Given the description of an element on the screen output the (x, y) to click on. 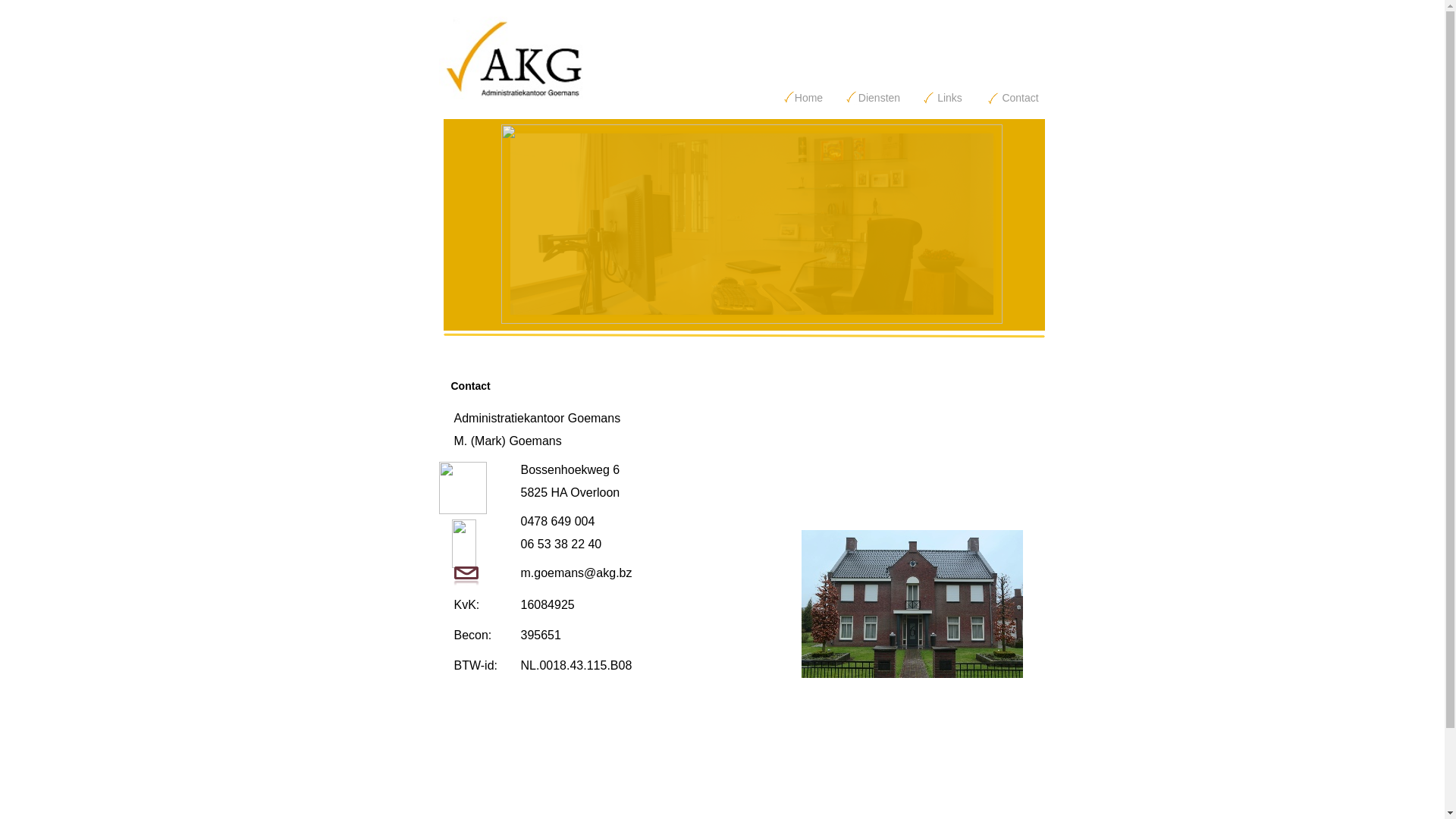
Links Element type: text (949, 96)
Diensten Element type: text (879, 96)
Contact Element type: text (1020, 96)
Home Element type: text (808, 96)
